Given the description of an element on the screen output the (x, y) to click on. 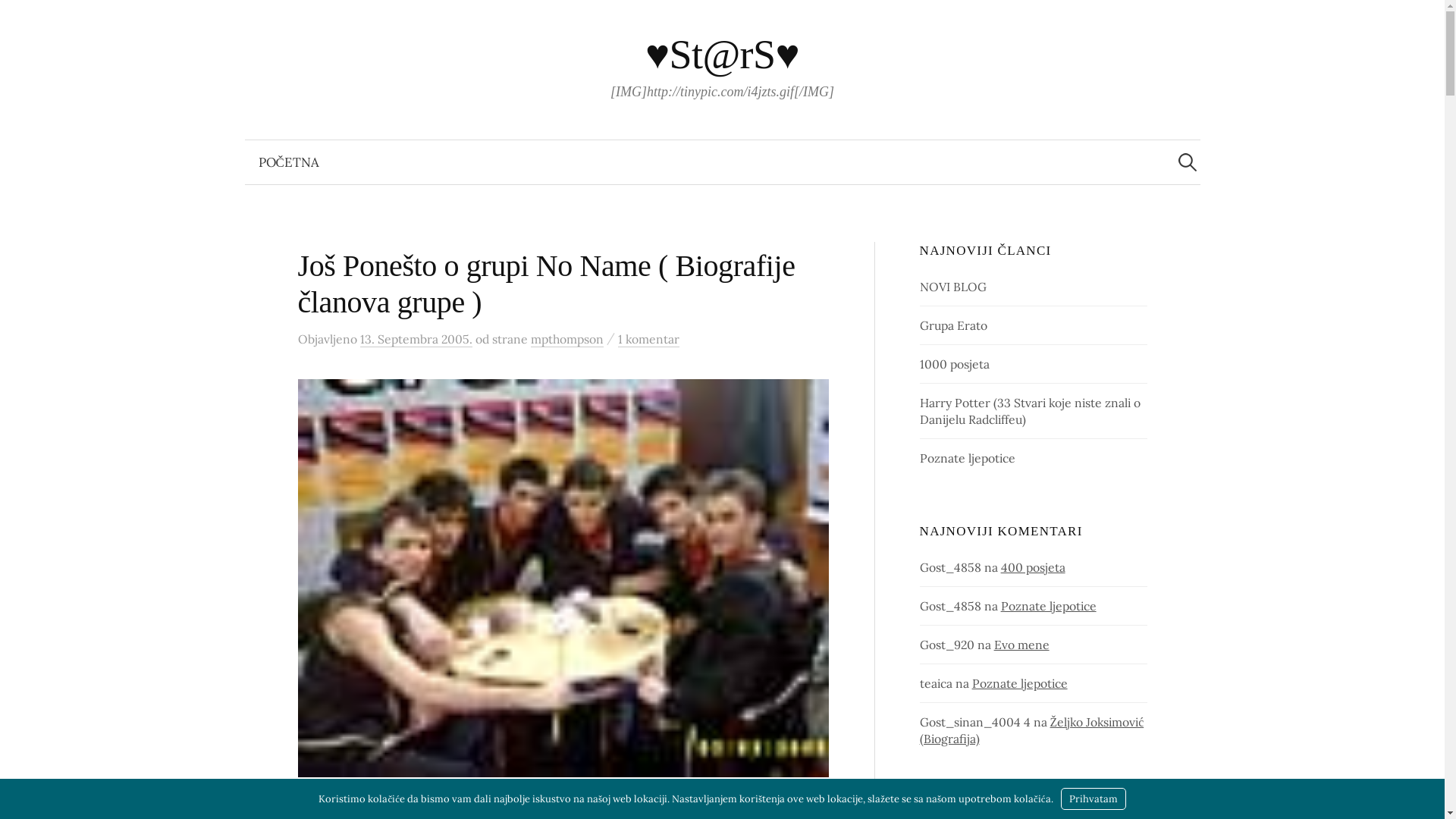
Pretraga Element type: text (18, 18)
Grupa Erato Element type: text (953, 324)
Evo mene Element type: text (1021, 644)
1000 posjeta Element type: text (954, 363)
Prihvatam Element type: text (1093, 798)
mpthompson Element type: text (566, 339)
Poznate ljepotice Element type: text (1019, 682)
NOVI BLOG Element type: text (952, 286)
13. Septembra 2005. Element type: text (415, 339)
Poznate ljepotice Element type: text (1048, 605)
Poznate ljepotice Element type: text (967, 457)
400 posjeta Element type: text (1033, 566)
